Given the description of an element on the screen output the (x, y) to click on. 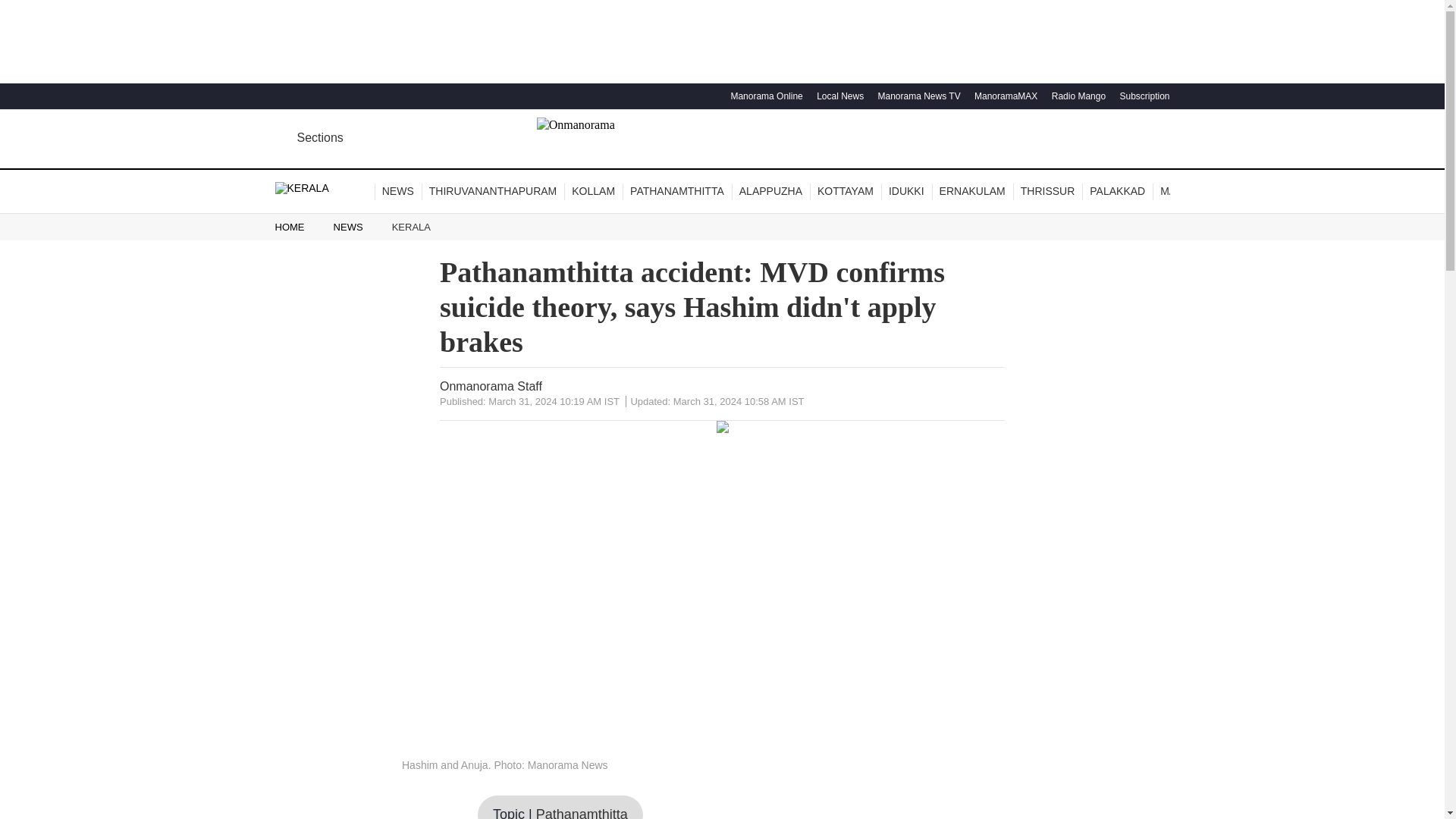
Local News (837, 95)
NEWS (398, 191)
Manorama Online (764, 95)
Manorama News TV (916, 95)
ManoramaMAX (1003, 95)
Radio Mango (1076, 95)
Subscription (1142, 95)
KOLLAM (593, 191)
THIRUVANANTHAPURAM (493, 191)
PATHANAMTHITTA (677, 191)
